Given the description of an element on the screen output the (x, y) to click on. 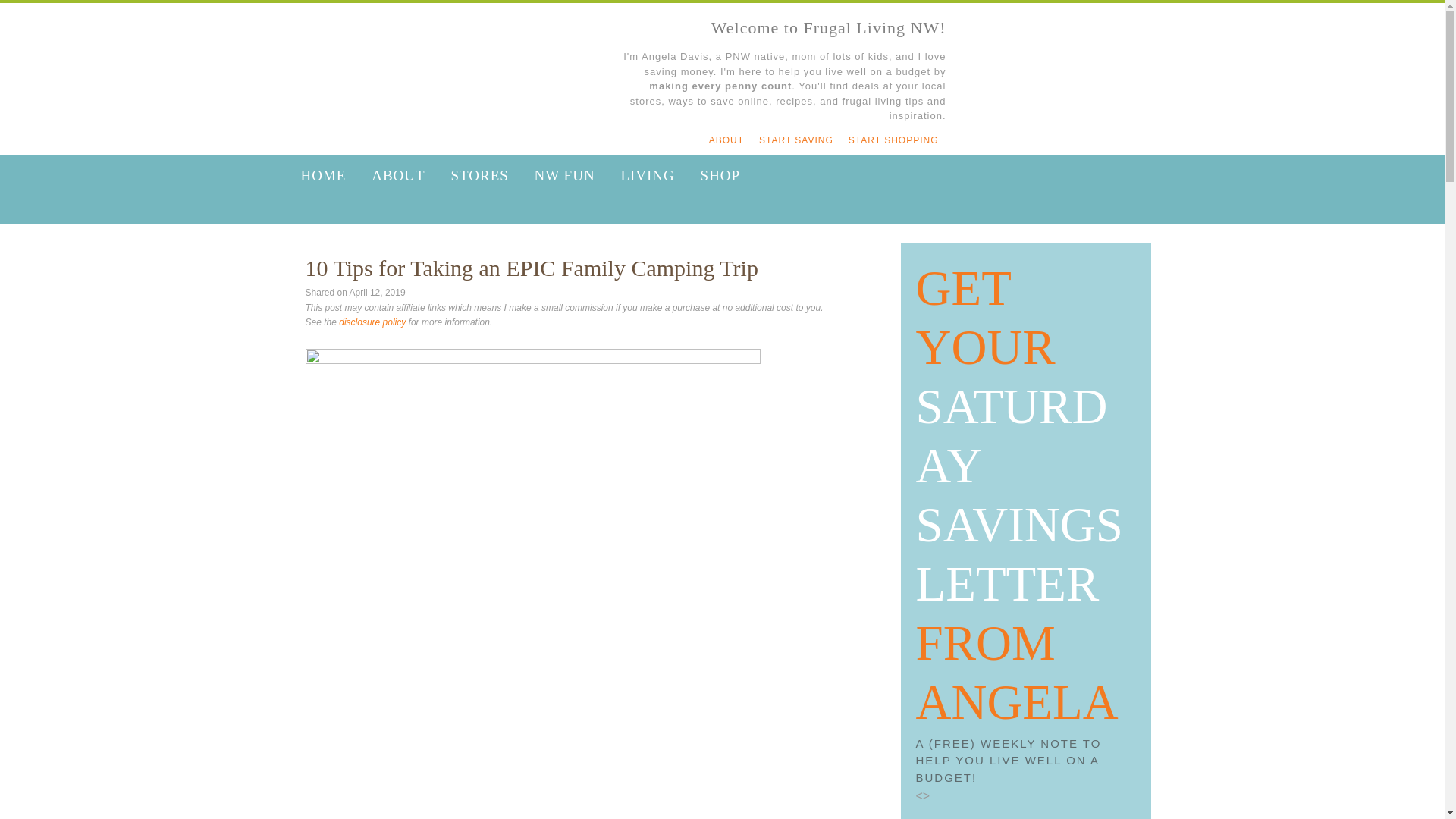
ABOUT (726, 140)
LIVING (647, 175)
START SHOPPING (893, 140)
NW FUN (564, 175)
START SAVING (796, 140)
HOME (322, 175)
SHOP (720, 175)
STORES (478, 175)
ABOUT (398, 175)
